Given the description of an element on the screen output the (x, y) to click on. 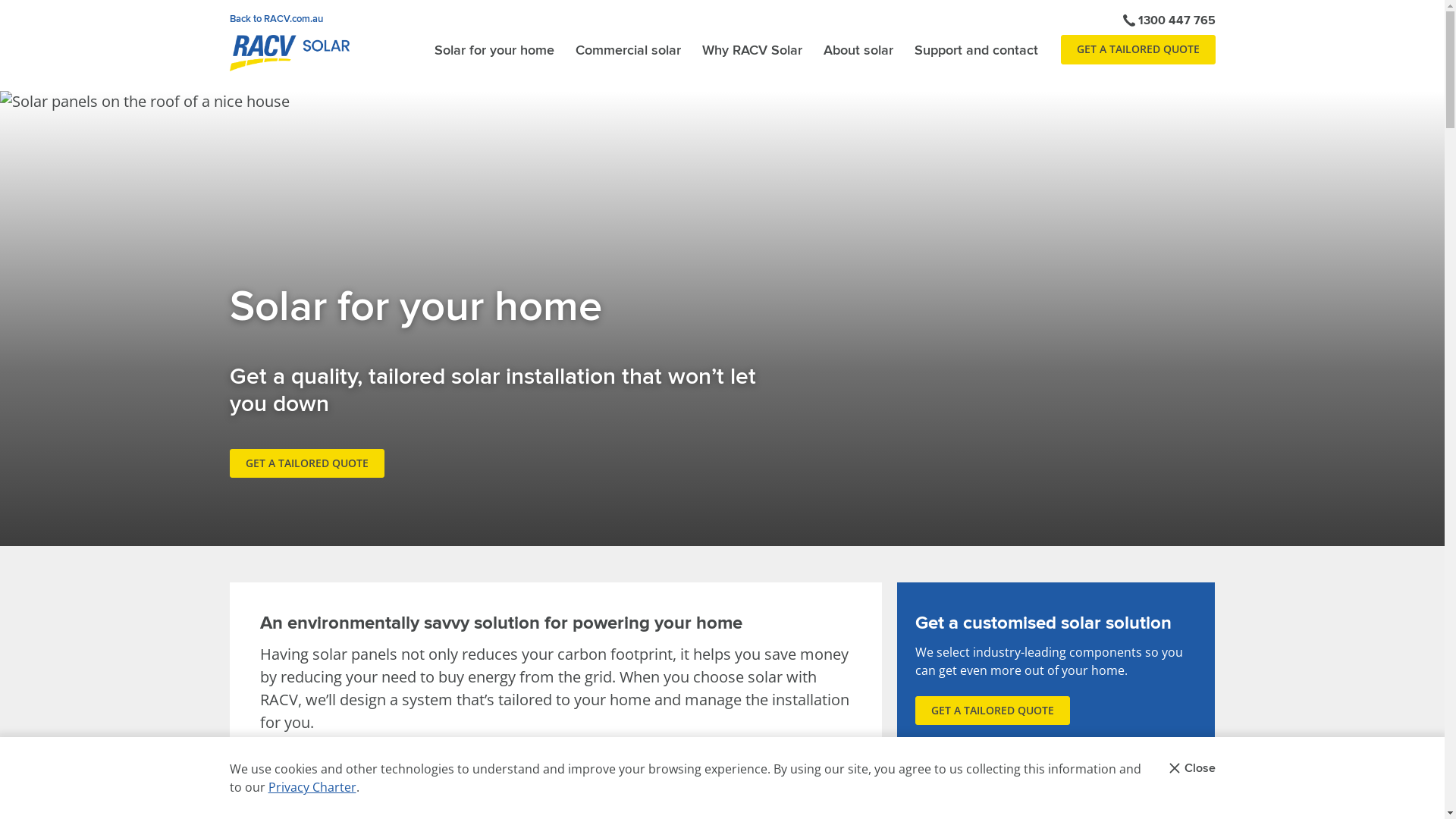
Why RACV Solar Element type: text (751, 50)
GET A TAILORED QUOTE Element type: text (306, 462)
1300 447 765 Element type: text (1168, 20)
Privacy Charter Element type: text (312, 786)
Close Element type: text (1192, 767)
Commercial solar Element type: text (627, 50)
Support and contact Element type: text (975, 50)
GET A TAILORED QUOTE Element type: text (991, 710)
About solar Element type: text (857, 50)
Back to RACV.com.au Element type: text (275, 18)
Solar for your home Element type: text (493, 50)
GET A TAILORED QUOTE Element type: text (1137, 48)
